Given the description of an element on the screen output the (x, y) to click on. 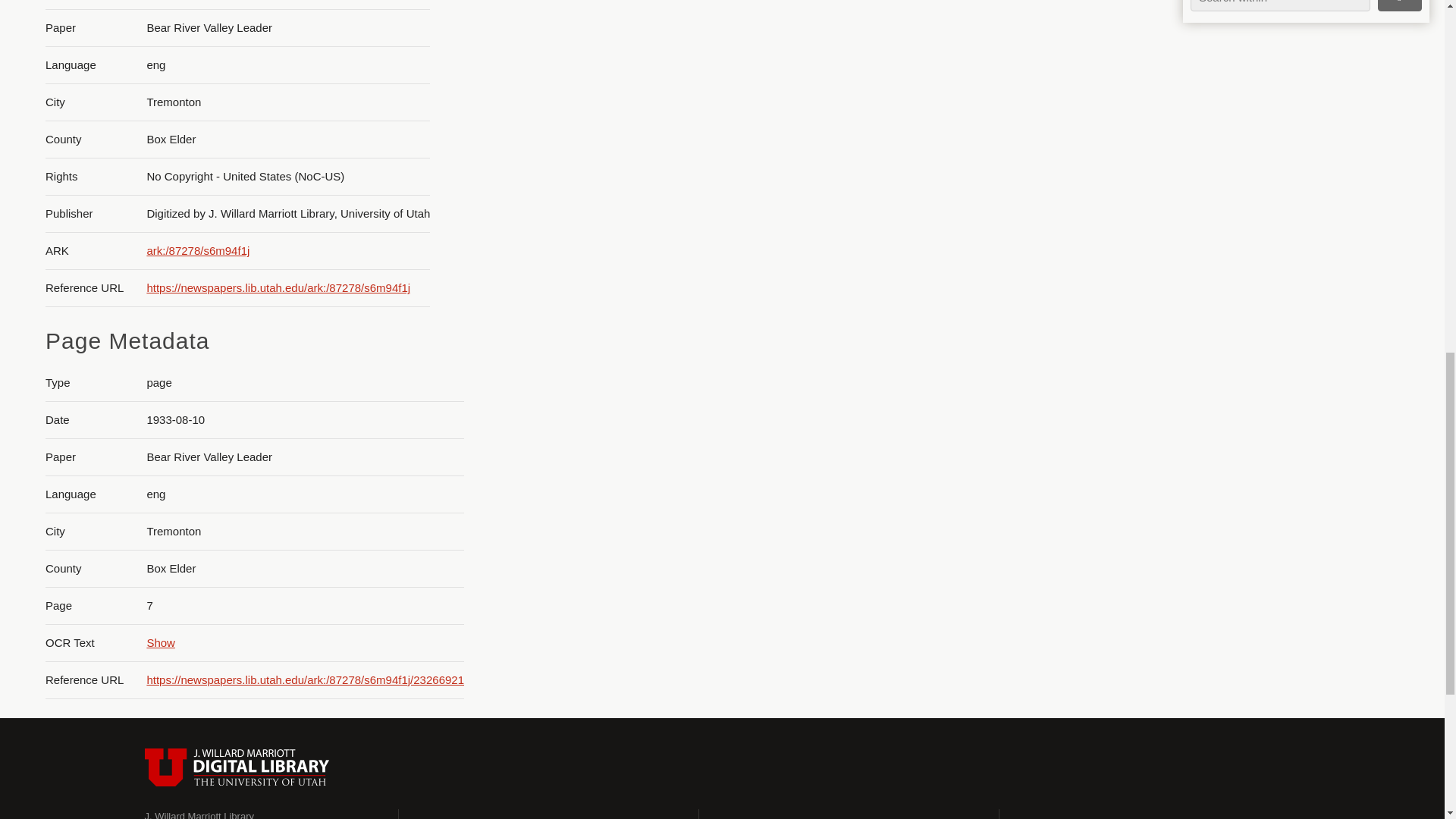
Show (160, 642)
Page 6 (1299, 44)
Page 7 (1299, 148)
J. Willard Marriott Library (198, 814)
Page 8 (1299, 264)
